Given the description of an element on the screen output the (x, y) to click on. 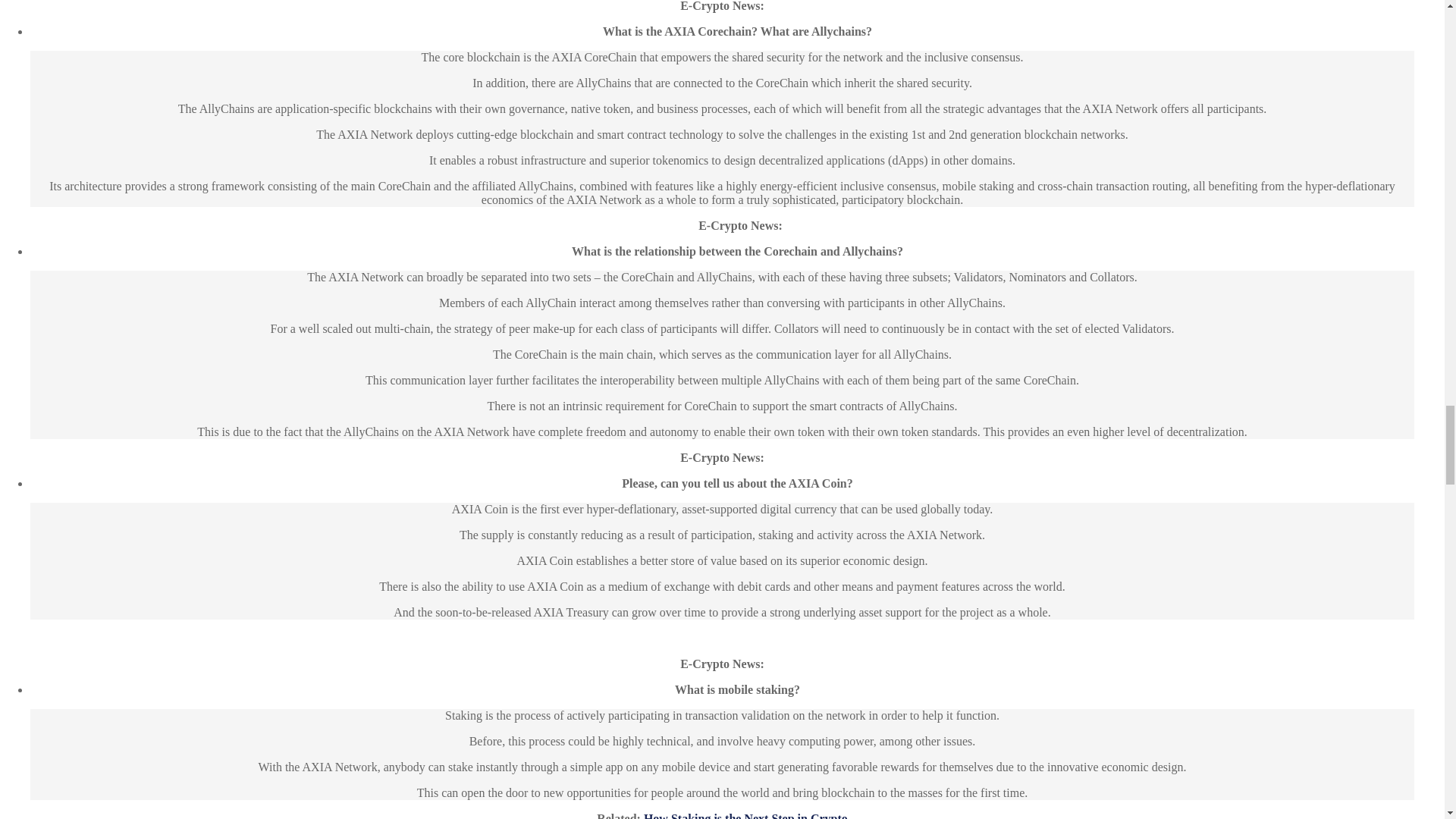
How Staking is the Next Step in Crypto (745, 815)
